Given the description of an element on the screen output the (x, y) to click on. 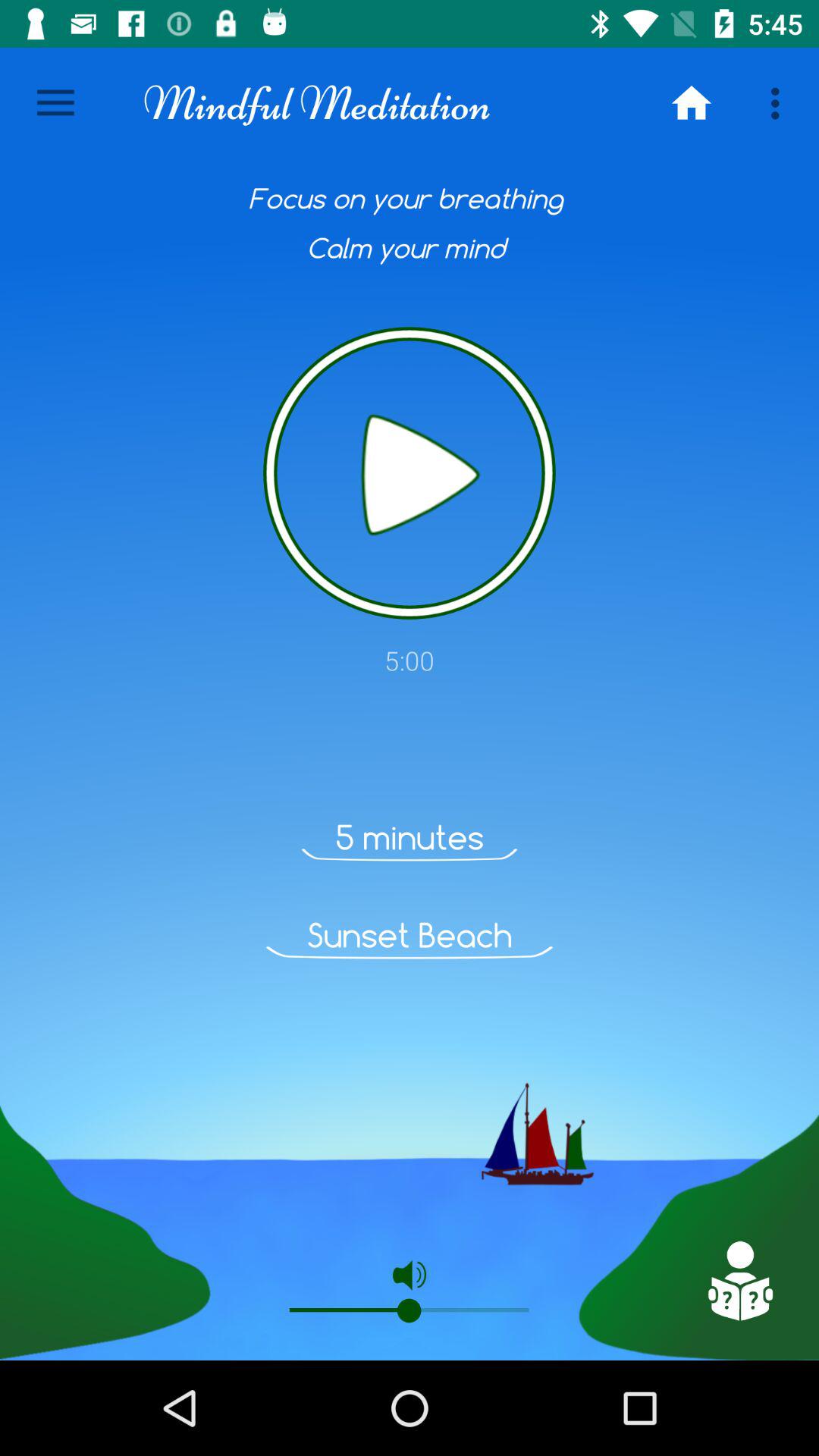
swipe until the   sunset beach   icon (409, 935)
